Given the description of an element on the screen output the (x, y) to click on. 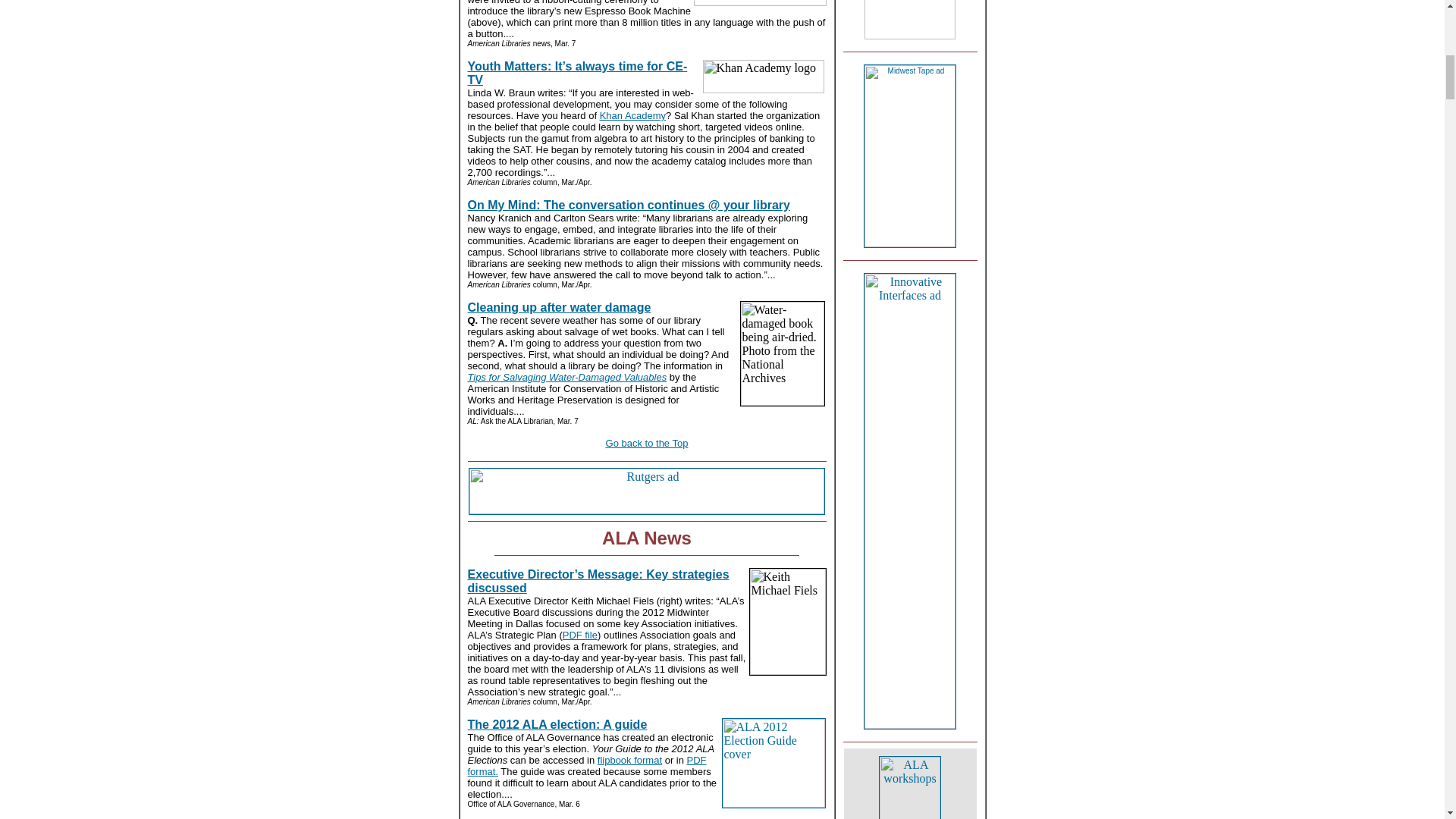
flipbook format (629, 759)
Khan Academy (632, 115)
Espresso Book Machine (759, 2)
Go back to the Top (646, 442)
Tips for Salvaging Water-Damaged Valuables (566, 377)
PDF file (579, 634)
ALA 2012 Election Guide cover (773, 763)
Cleaning up after water damage (558, 307)
Rutgers ad (646, 491)
The 2012 ALA election: A guide (556, 724)
Khan Academy logo (762, 76)
